Given the description of an element on the screen output the (x, y) to click on. 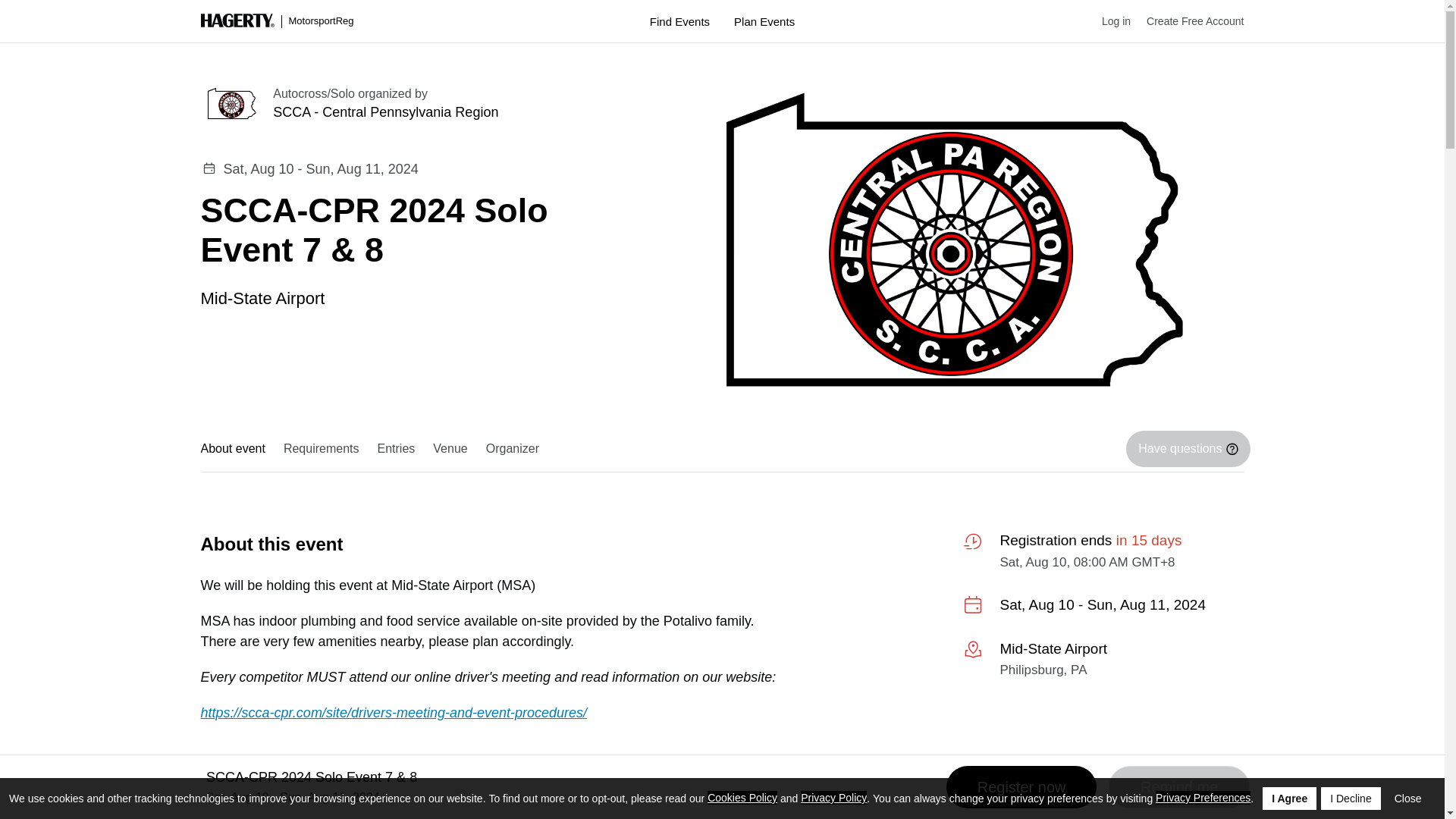
Log in (1108, 21)
MotorsportReg (276, 21)
Cookies Policy (742, 797)
Close (1408, 798)
Entries (396, 449)
Organizer (512, 449)
Have questions (1187, 448)
Venue (449, 449)
Requirements (321, 449)
Mid-State Airport (262, 296)
Privacy Preferences (1203, 797)
Privacy Policy (833, 797)
More info (1102, 661)
Create Free Account (1187, 21)
SCCA - Central Pennsylvania Region (448, 112)
